Given the description of an element on the screen output the (x, y) to click on. 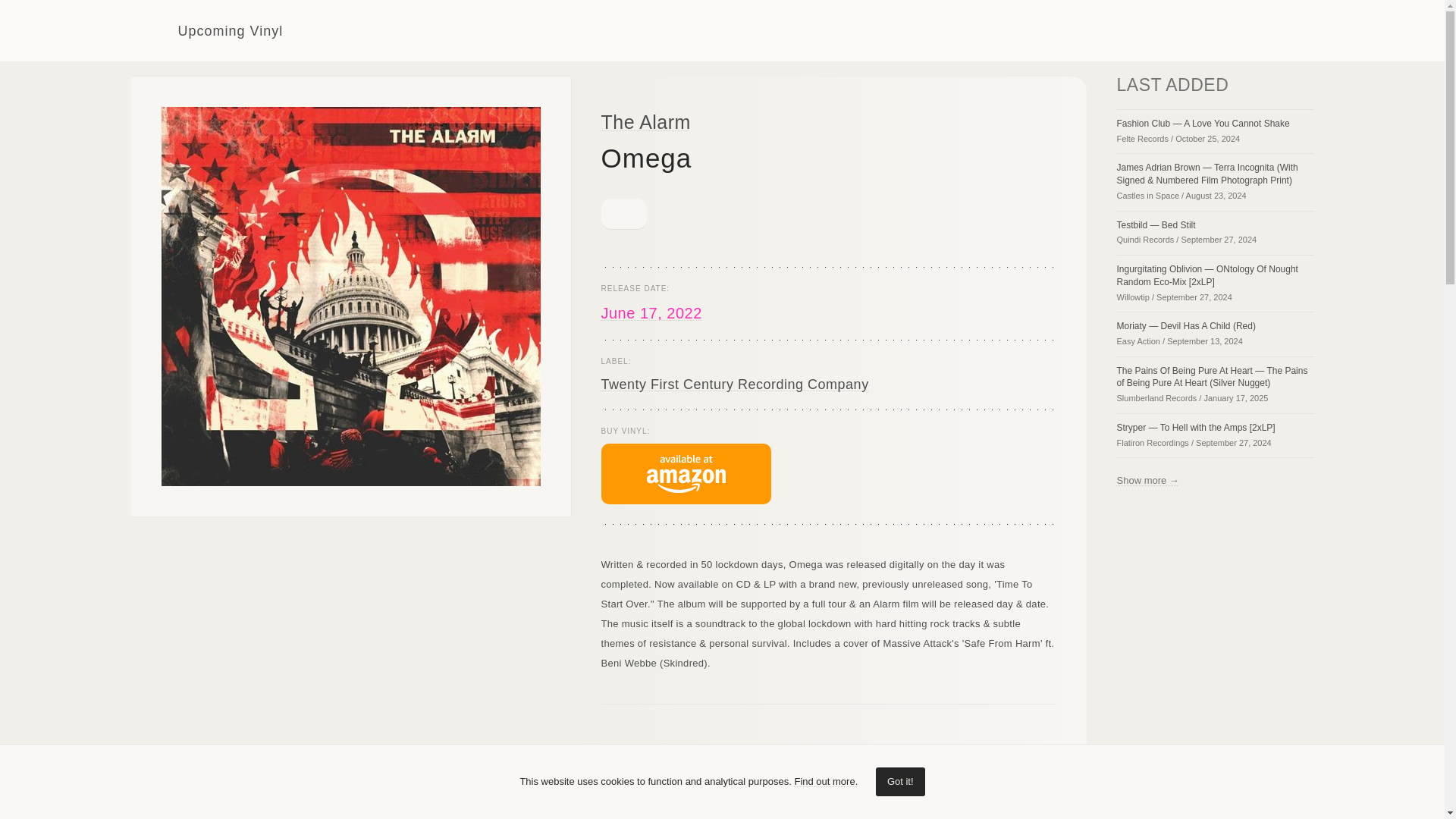
Sign in or create account (1199, 30)
Twenty First Century Recording Company (733, 383)
The Alarm (644, 121)
Add to favourites (622, 214)
Upcoming Vinyl (206, 30)
June 17, 2022 (650, 312)
